Given the description of an element on the screen output the (x, y) to click on. 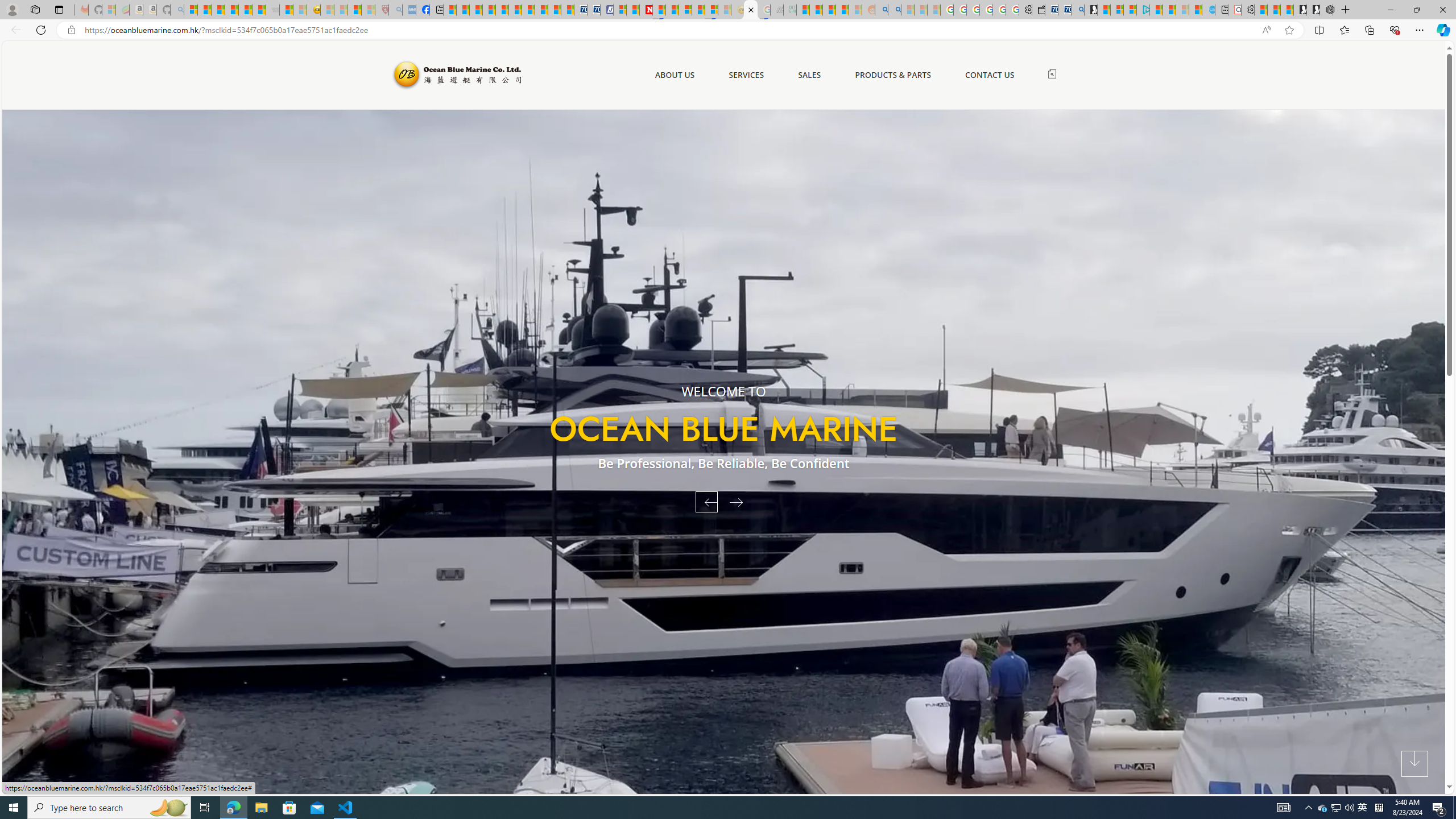
SERVICES (746, 75)
Next Section (1414, 764)
